Given the description of an element on the screen output the (x, y) to click on. 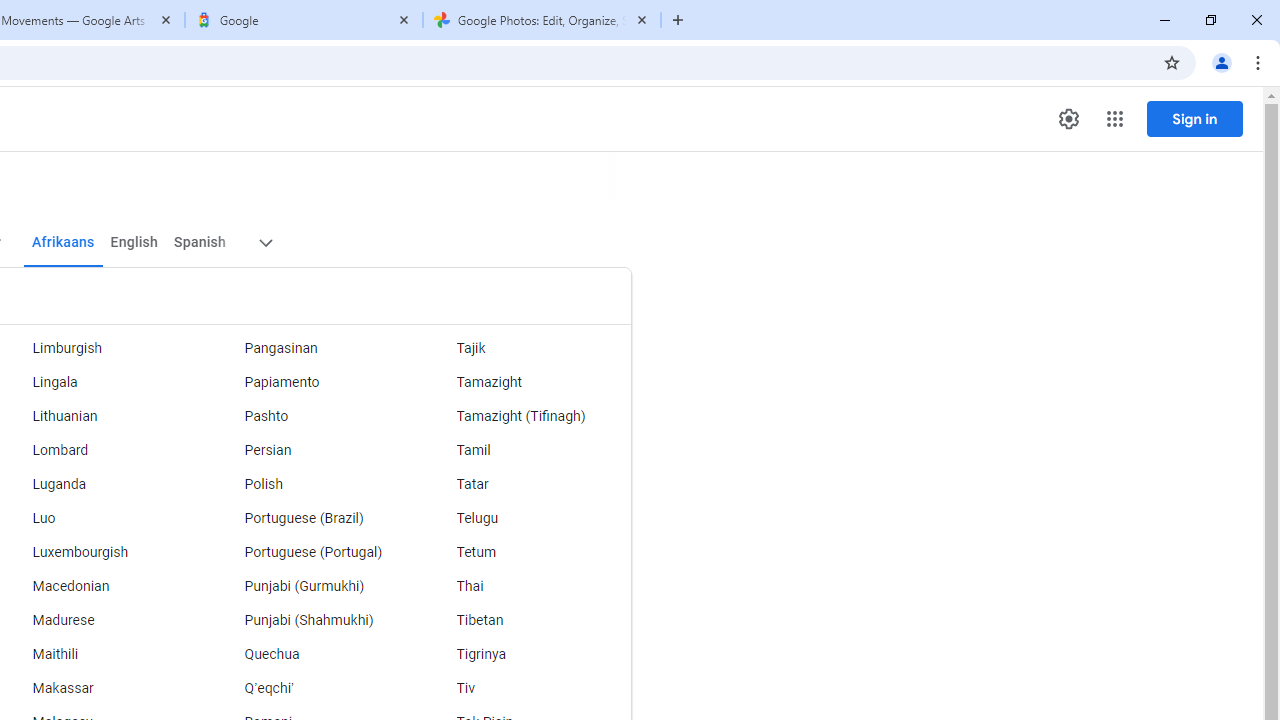
Tigrinya (525, 655)
Spanish (199, 242)
Afrikaans (62, 242)
Punjabi (Gurmukhi) (312, 586)
